Given the description of an element on the screen output the (x, y) to click on. 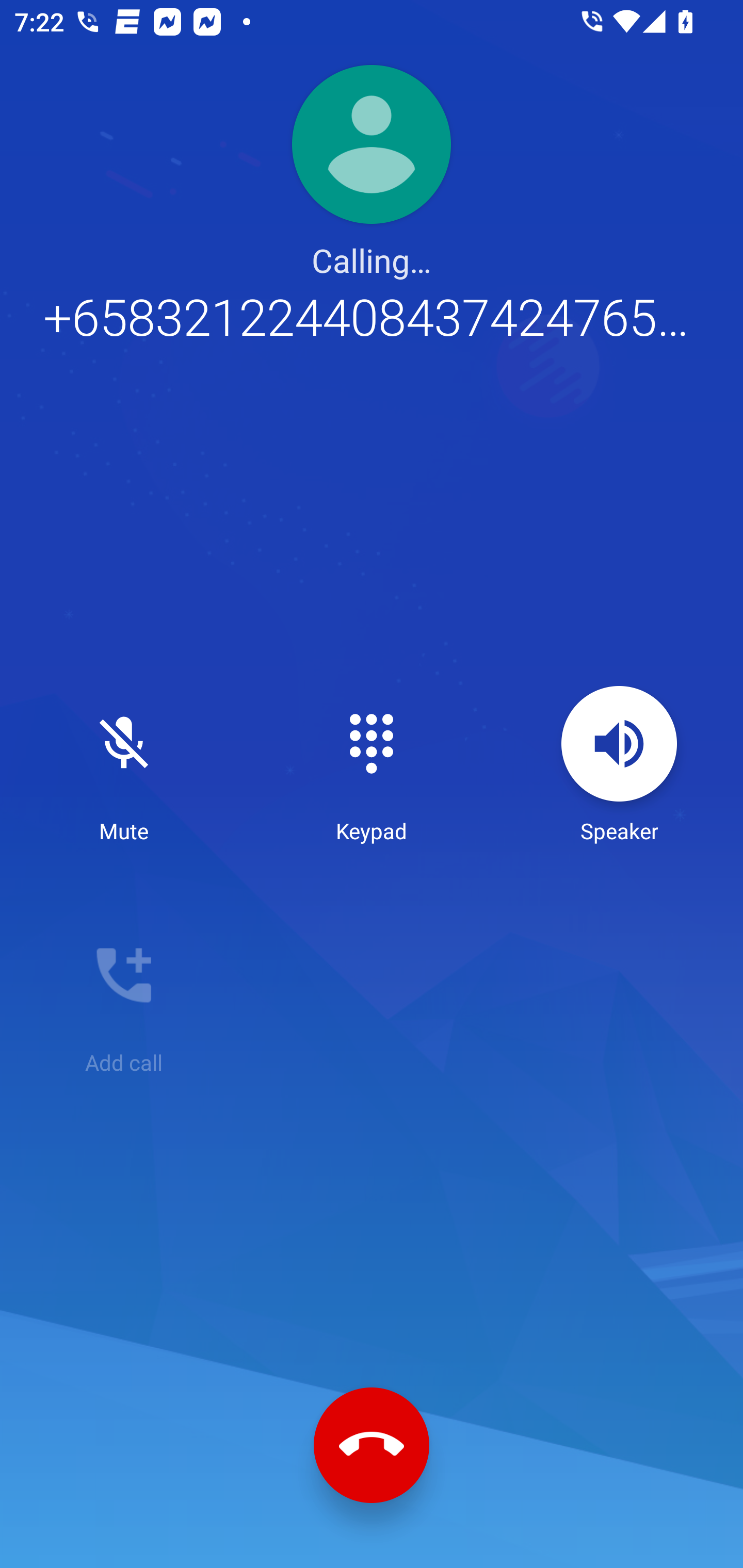
Unmuted Mute (123, 765)
Keypad (371, 765)
Speaker, is on Speaker (619, 765)
Add call (123, 997)
End call (371, 1445)
